Given the description of an element on the screen output the (x, y) to click on. 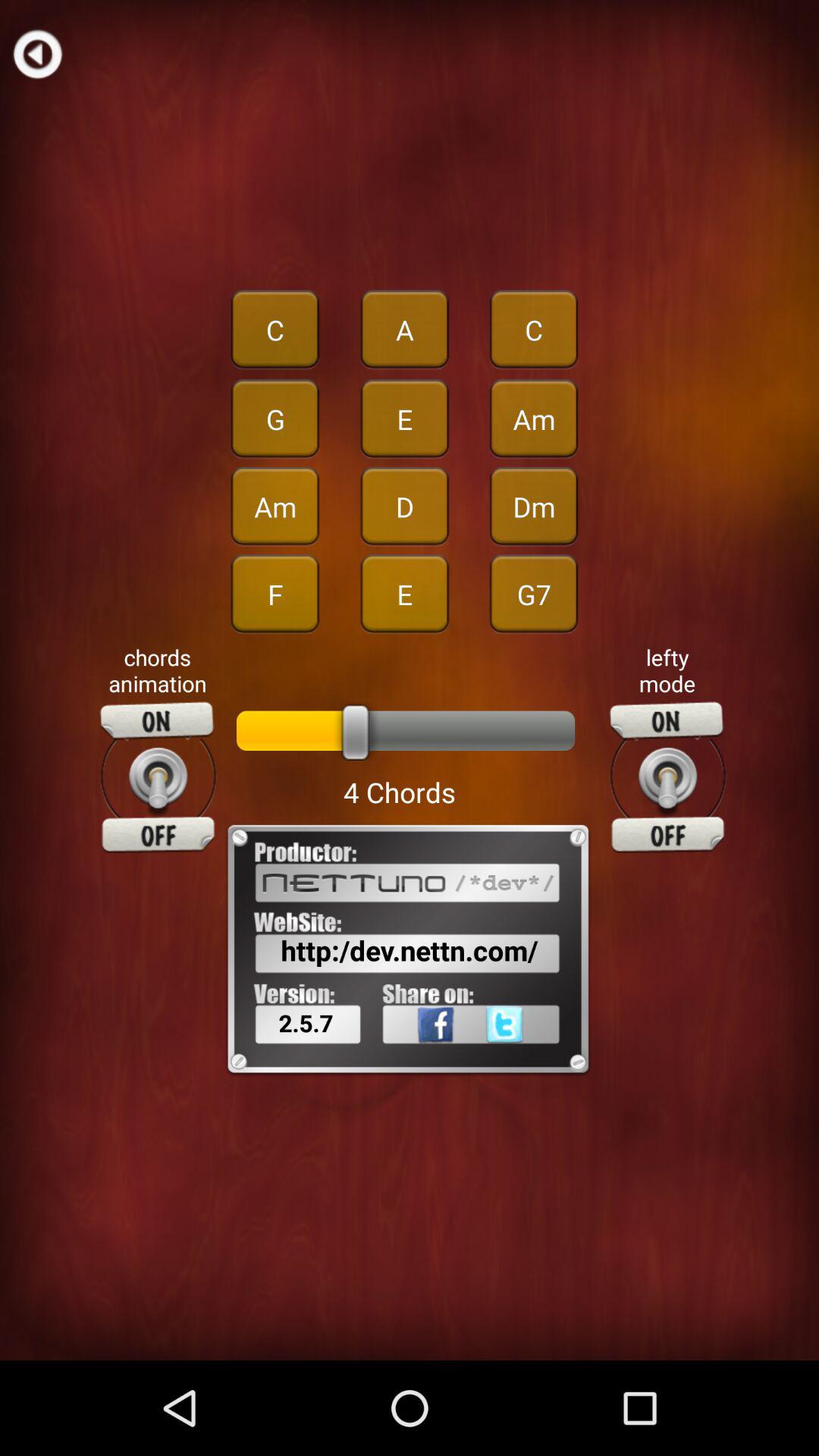
go back (37, 53)
